Given the description of an element on the screen output the (x, y) to click on. 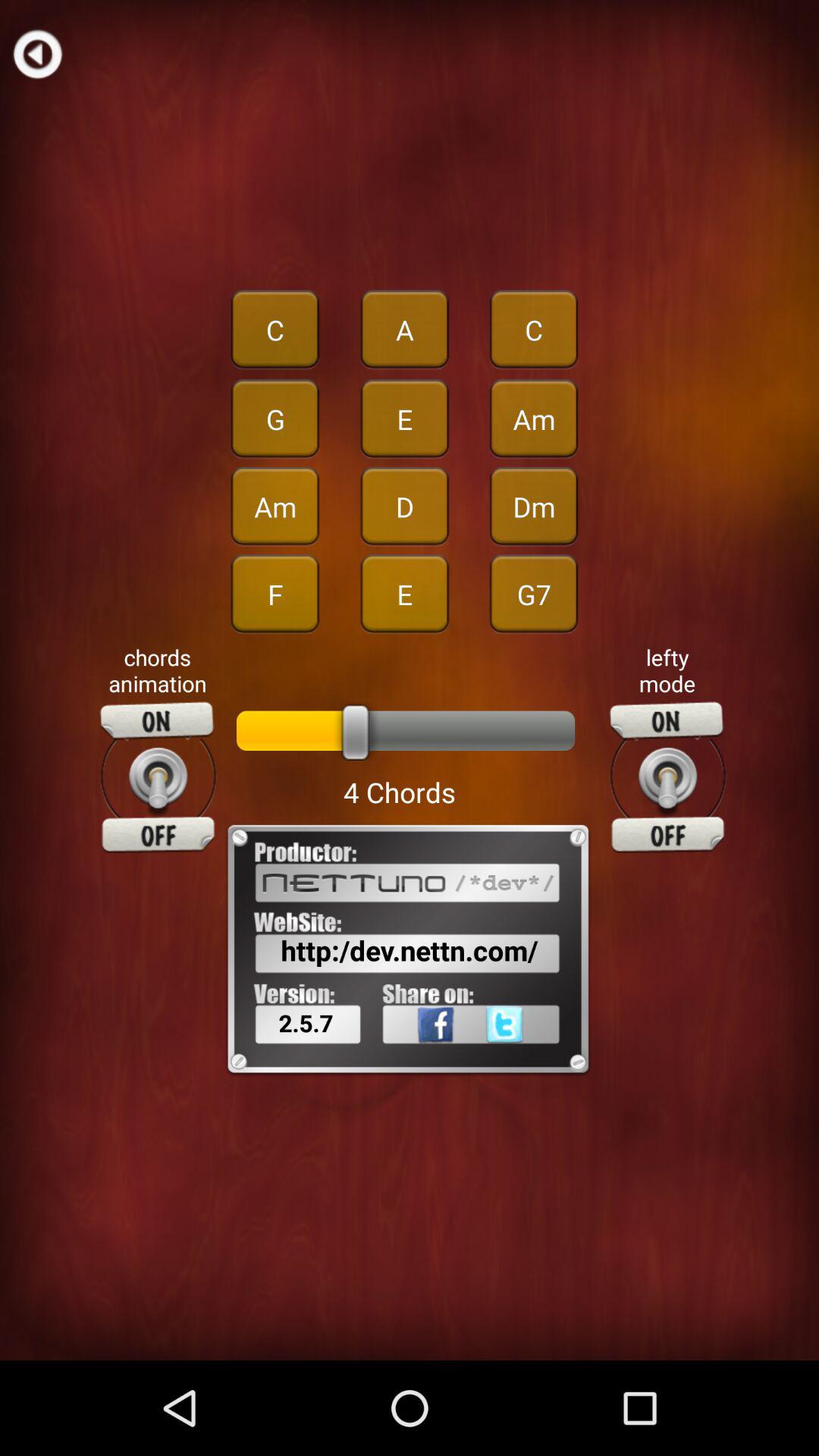
go back (37, 53)
